Given the description of an element on the screen output the (x, y) to click on. 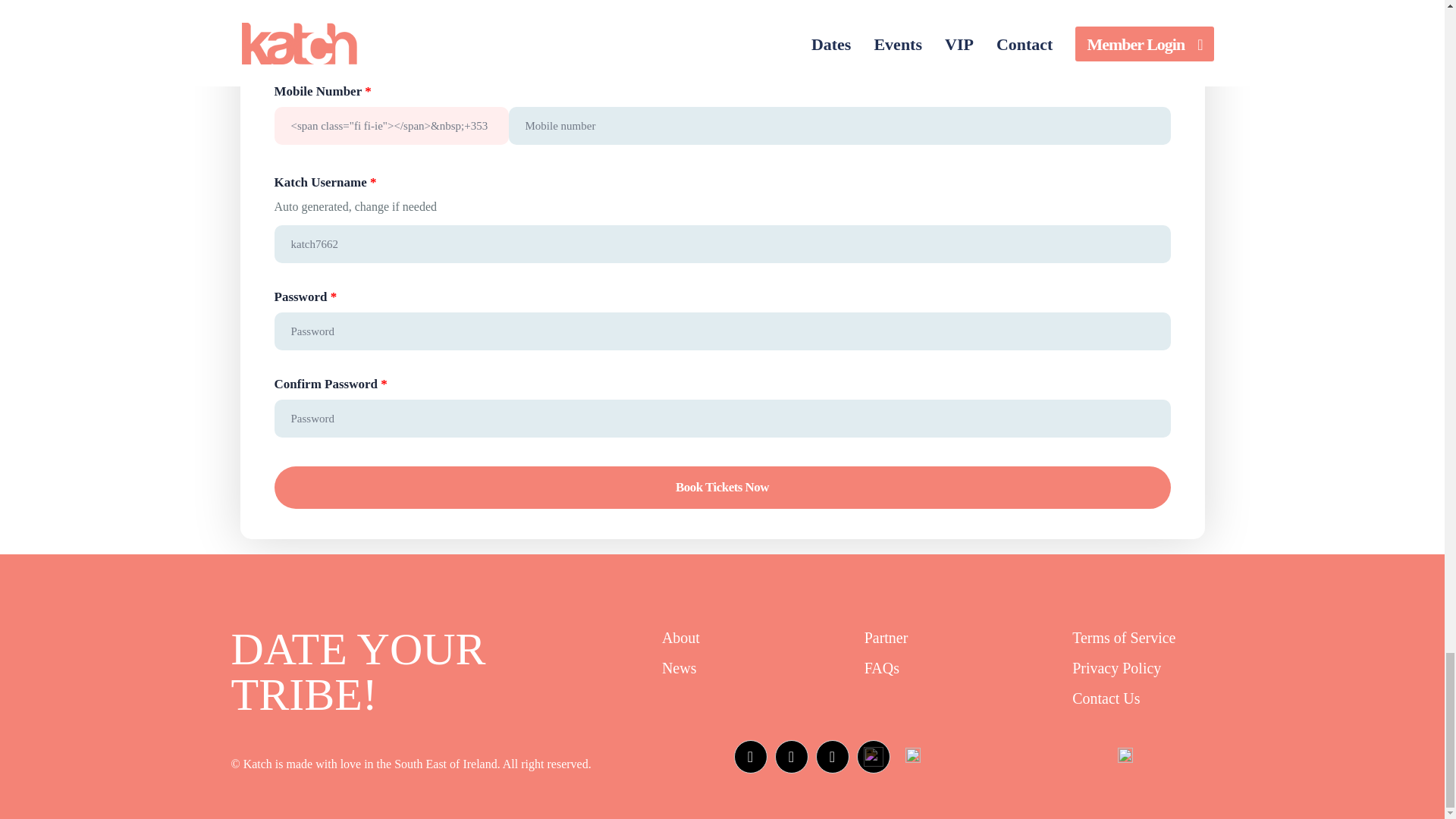
Partner (886, 637)
Book Tickets Now (722, 487)
About (681, 637)
katch7662 (722, 243)
Contact Us (1105, 698)
Privacy Policy (1115, 667)
News (679, 667)
FAQs (881, 667)
Terms of Service (1122, 637)
